Given the description of an element on the screen output the (x, y) to click on. 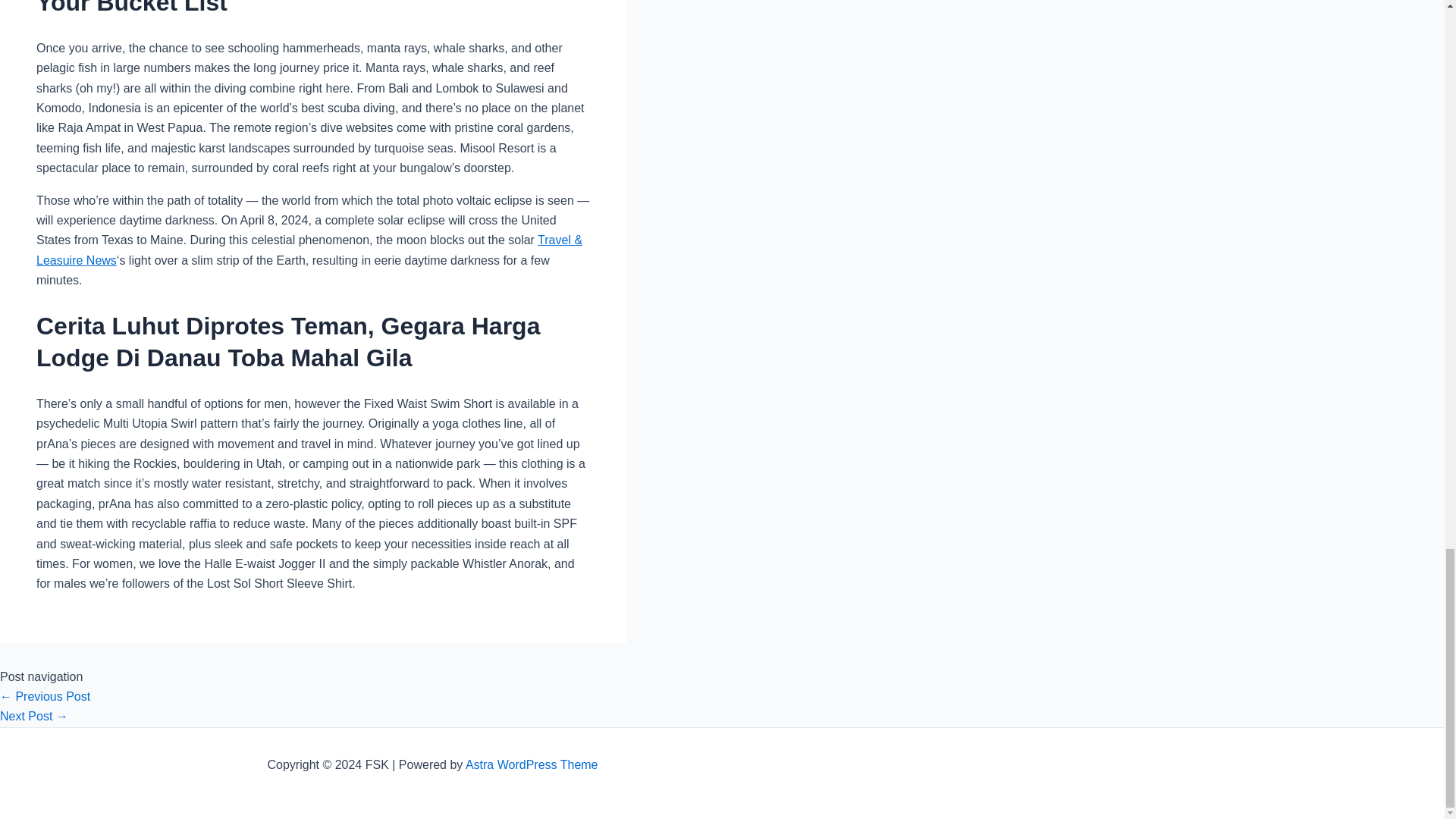
Cars The New York Times (45, 696)
